Given the description of an element on the screen output the (x, y) to click on. 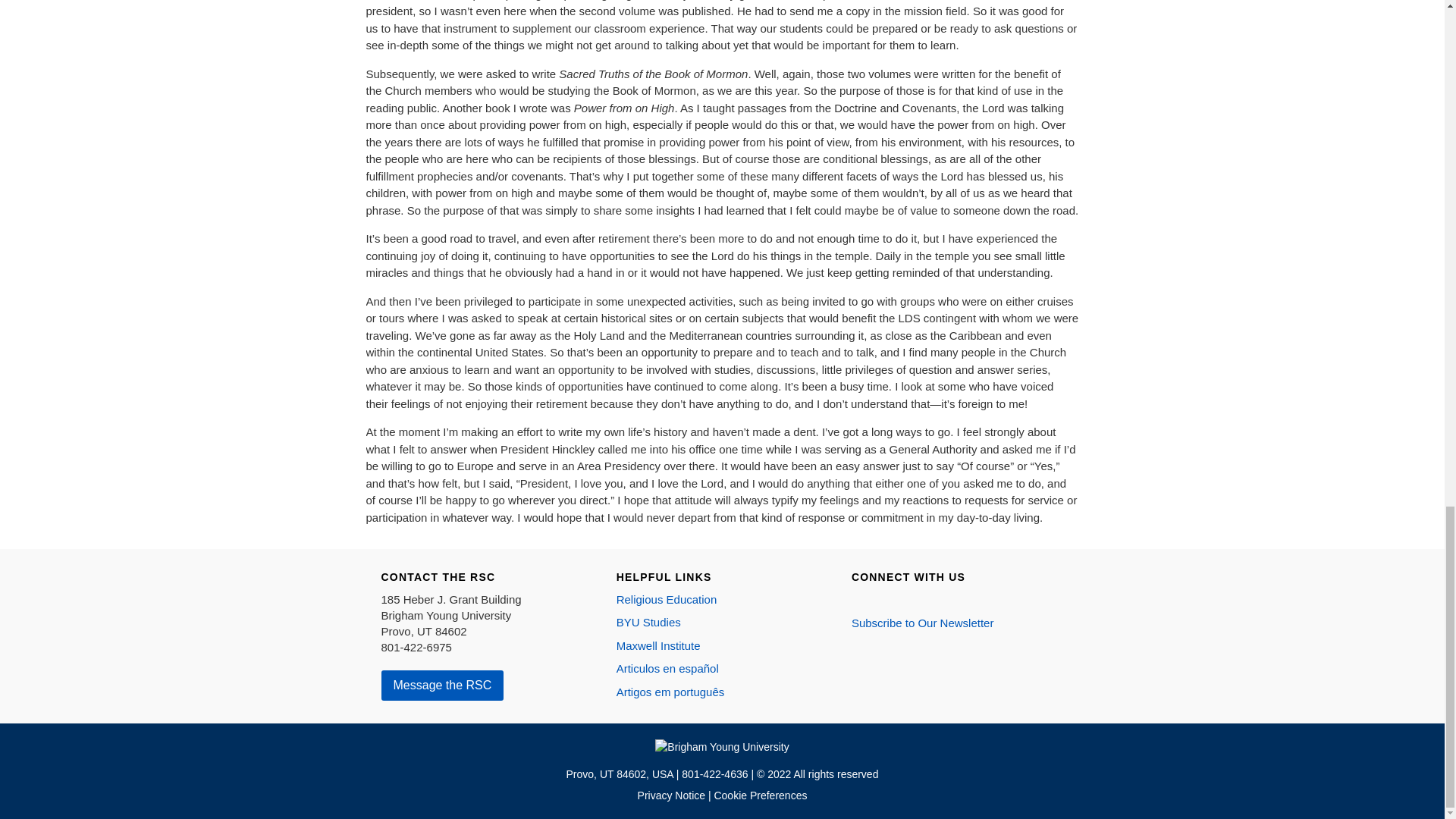
Message the RSC (441, 685)
Subscribe to Our Newsletter (922, 622)
Facebook (857, 599)
BYU Studies (648, 621)
Instagram (879, 599)
Privacy Notice (672, 795)
Religious Education (666, 599)
YouTube (924, 599)
Cookie Preferences (759, 795)
Maxwell Institute (657, 645)
